Given the description of an element on the screen output the (x, y) to click on. 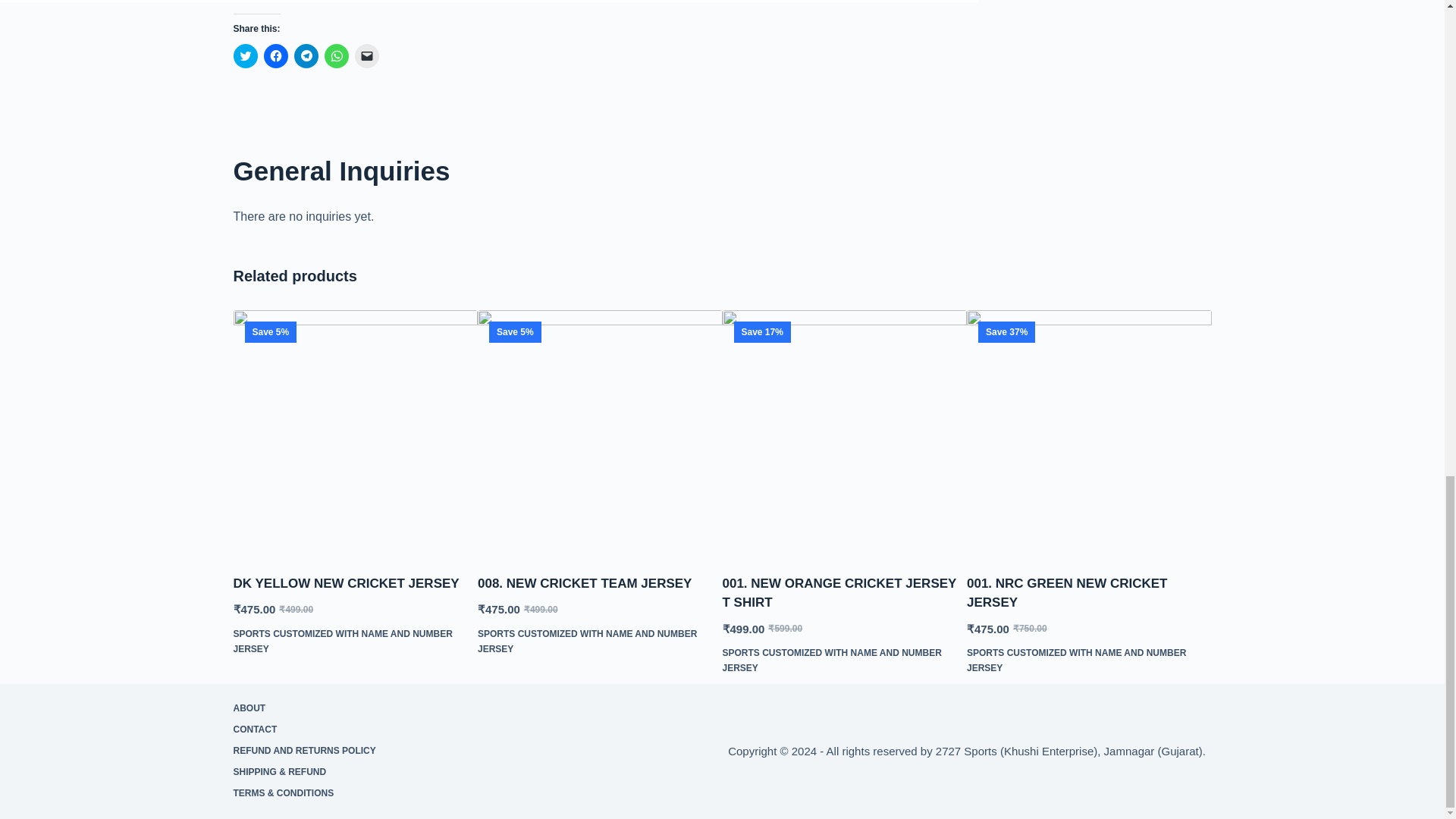
DK YELLOW NEW CRICKET JERSEY (346, 583)
Click to share on Facebook (275, 55)
SPORTS CUSTOMIZED WITH NAME AND NUMBER JERSEY (587, 641)
Click to share on Twitter (244, 55)
WhatsApp Image 2022-01-08 at 1.31.01 PM (599, 432)
008. NEW CRICKET TEAM JERSEY (584, 583)
Click to share on Telegram (306, 55)
Click to email a link to a friend (366, 55)
Click to share on WhatsApp (336, 55)
SPORTS CUSTOMIZED WITH NAME AND NUMBER JERSEY (342, 641)
